Given the description of an element on the screen output the (x, y) to click on. 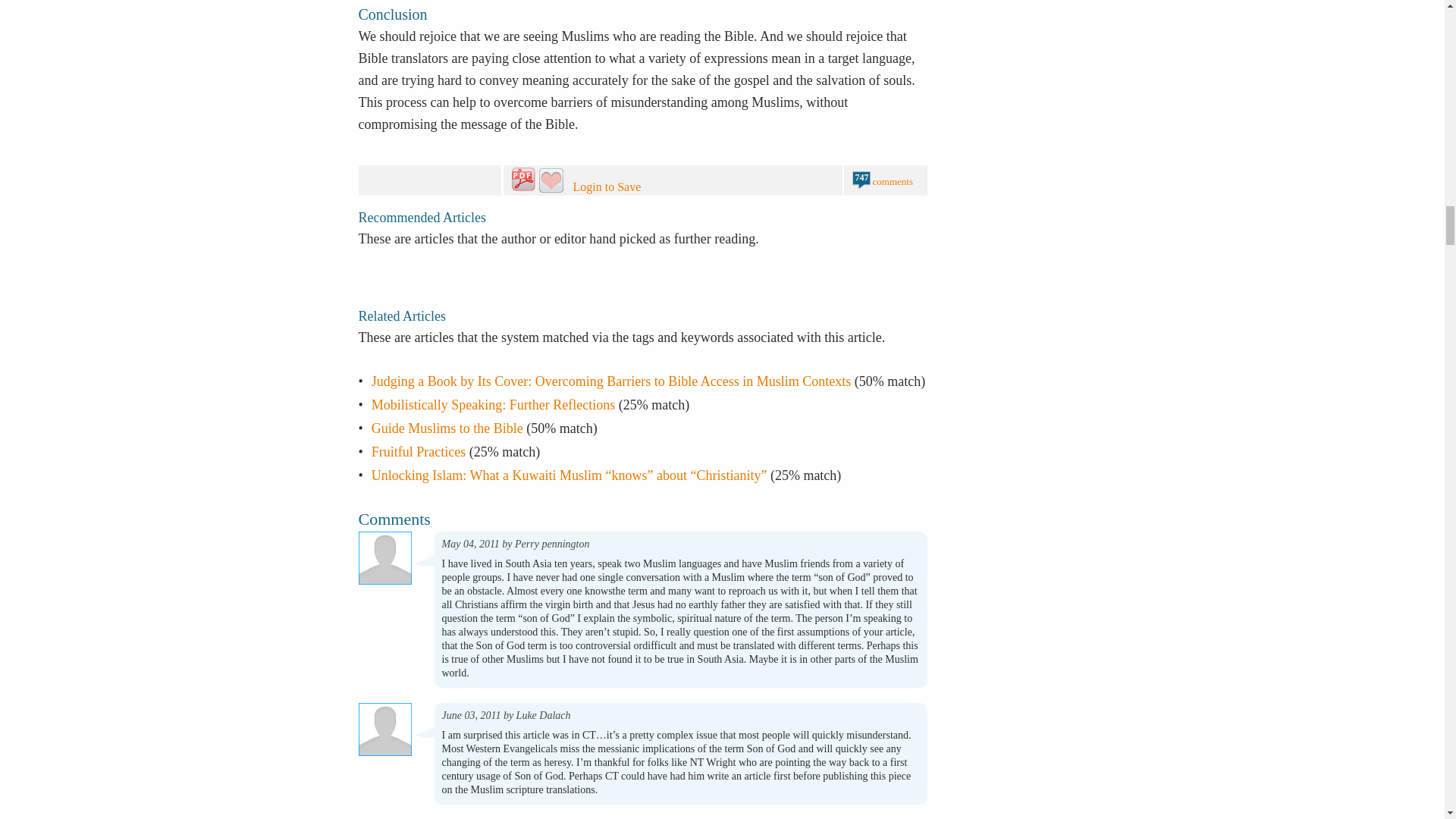
Login to Save (643, 181)
comments (892, 181)
Fruitful Practices (418, 451)
Guide Muslims to the Bible (446, 427)
Mobilistically Speaking: Further Reflections (492, 404)
